Given the description of an element on the screen output the (x, y) to click on. 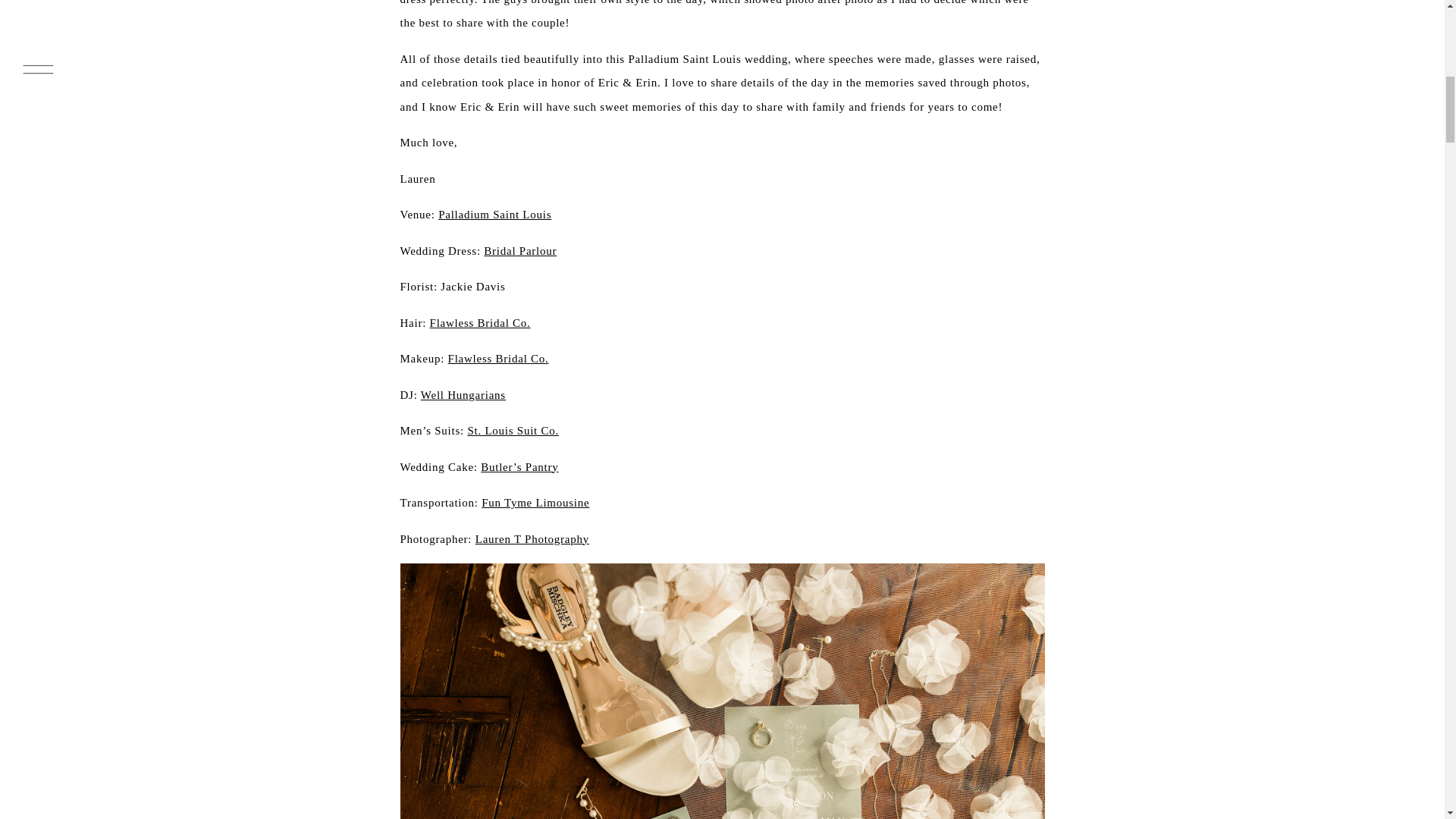
Well Hungarians (462, 394)
Lauren T Photography (532, 538)
Flawless Bridal Co. (498, 358)
Fun Tyme Limousine (535, 502)
Bridal Parlour (519, 250)
St. Louis Suit Co. (513, 430)
Flawless Bridal Co. (480, 322)
Palladium Saint Louis (494, 214)
